Given the description of an element on the screen output the (x, y) to click on. 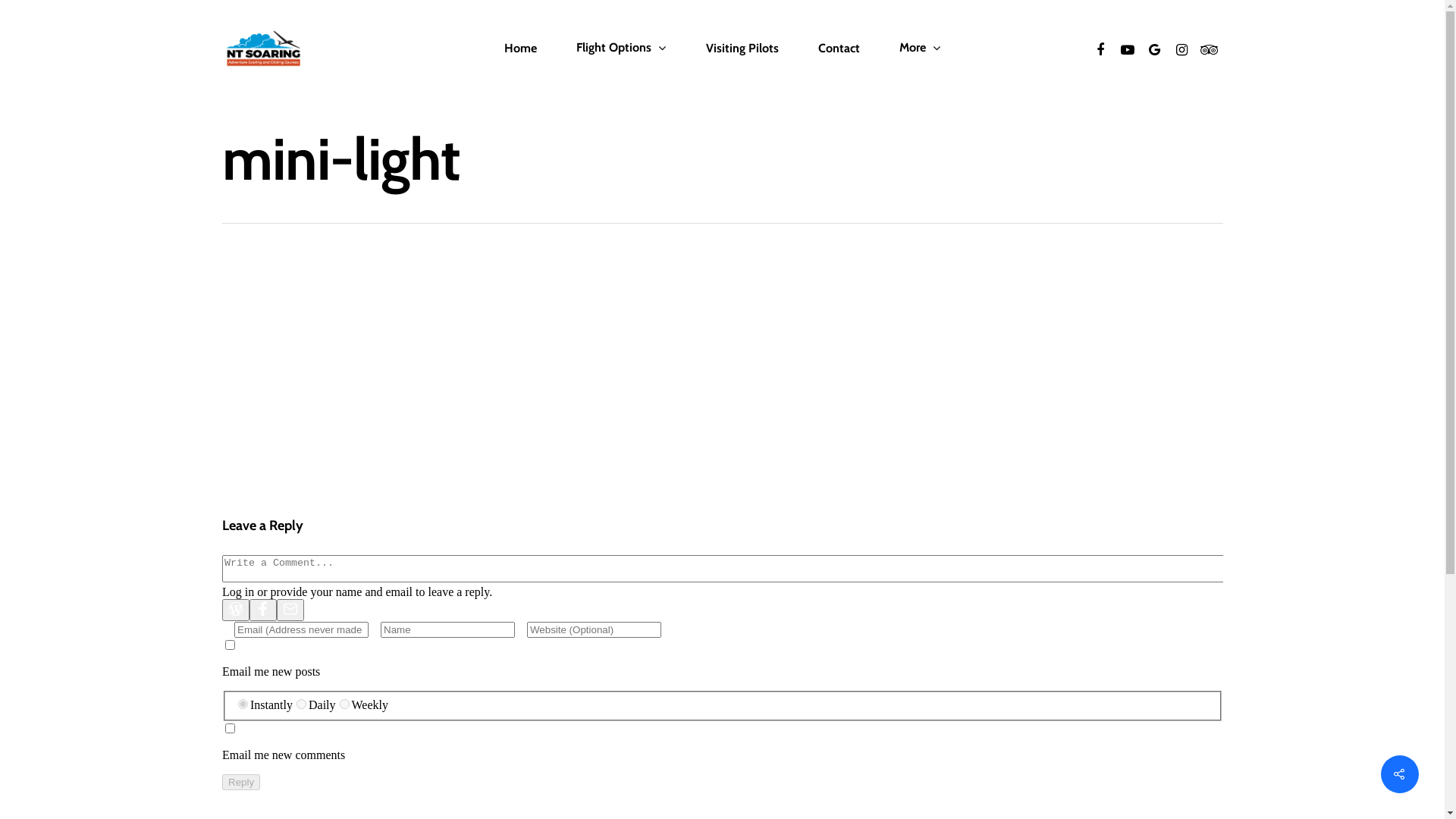
Home Element type: text (519, 48)
Comment Form Element type: hover (721, 672)
More Element type: text (920, 47)
Visiting Pilots Element type: text (741, 48)
Contact Element type: text (838, 48)
Flight Options Element type: text (621, 47)
